Given the description of an element on the screen output the (x, y) to click on. 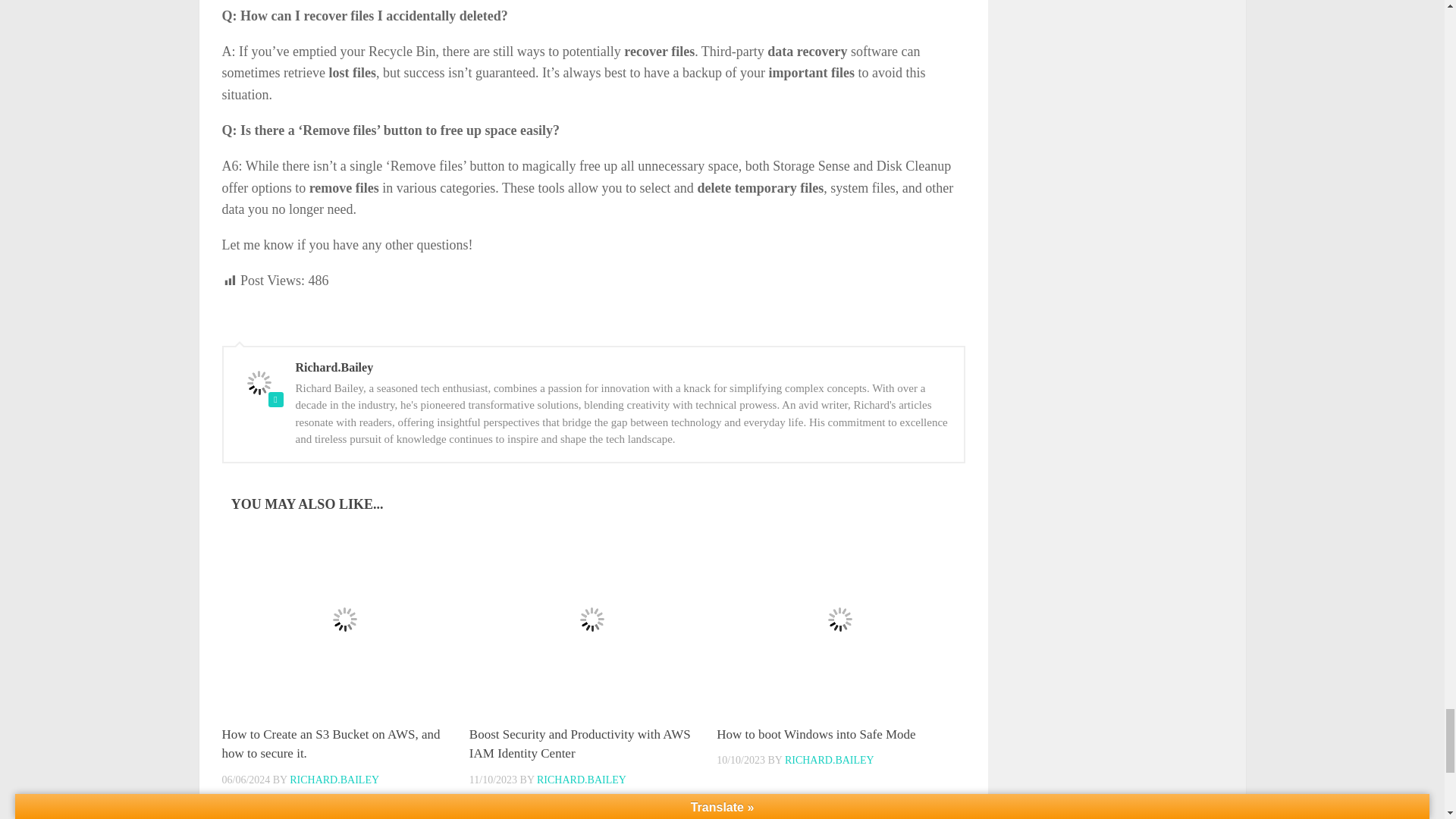
Posts by Richard.Bailey (581, 779)
RICHARD.BAILEY (333, 779)
How to Create an S3 Bucket on AWS, and how to secure it. (330, 744)
Posts by Richard.Bailey (829, 759)
Posts by Richard.Bailey (333, 779)
